Given the description of an element on the screen output the (x, y) to click on. 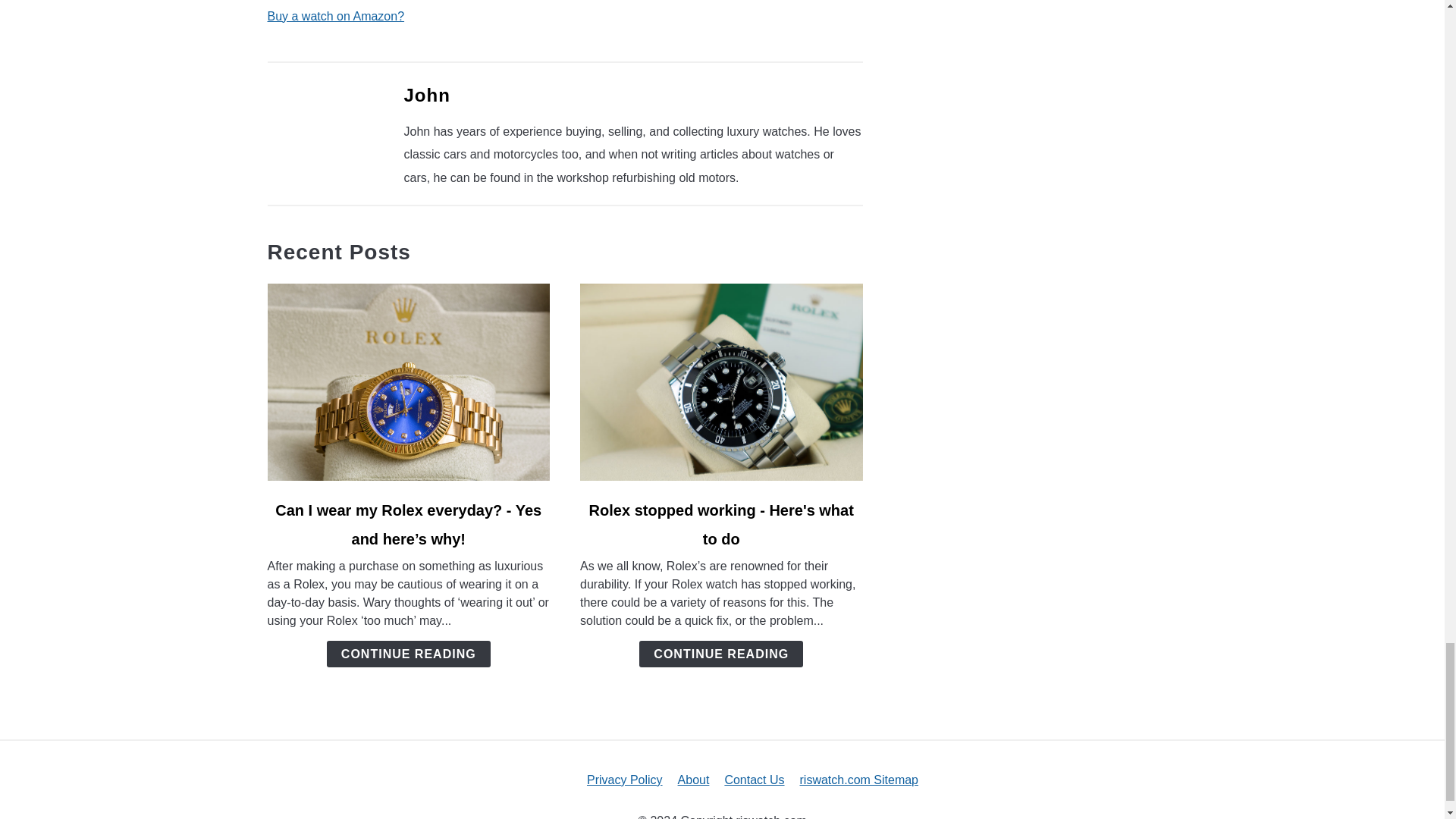
Privacy Policy (624, 779)
riswatch.com Sitemap (858, 779)
About (694, 779)
John (426, 95)
Contact Us (753, 779)
CONTINUE READING (721, 653)
CONTINUE READING (408, 653)
Buy a watch on Amazon? (335, 15)
link to Rolex stopped working - Here's what to do (721, 381)
Rolex stopped working - Here's what to do (721, 524)
